Given the description of an element on the screen output the (x, y) to click on. 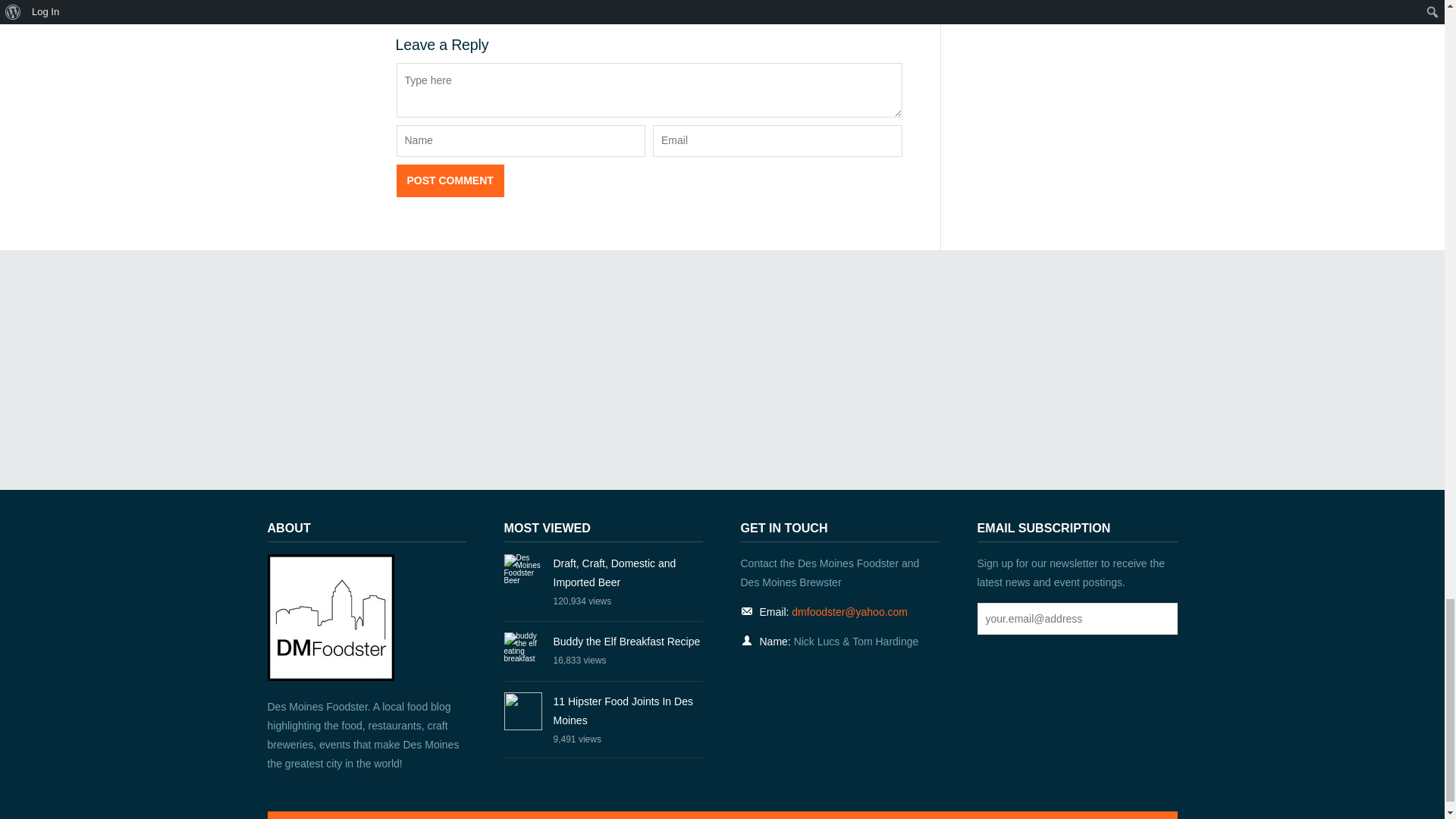
Post Comment (449, 181)
Post Comment (449, 181)
Subscribe (1159, 618)
